Given the description of an element on the screen output the (x, y) to click on. 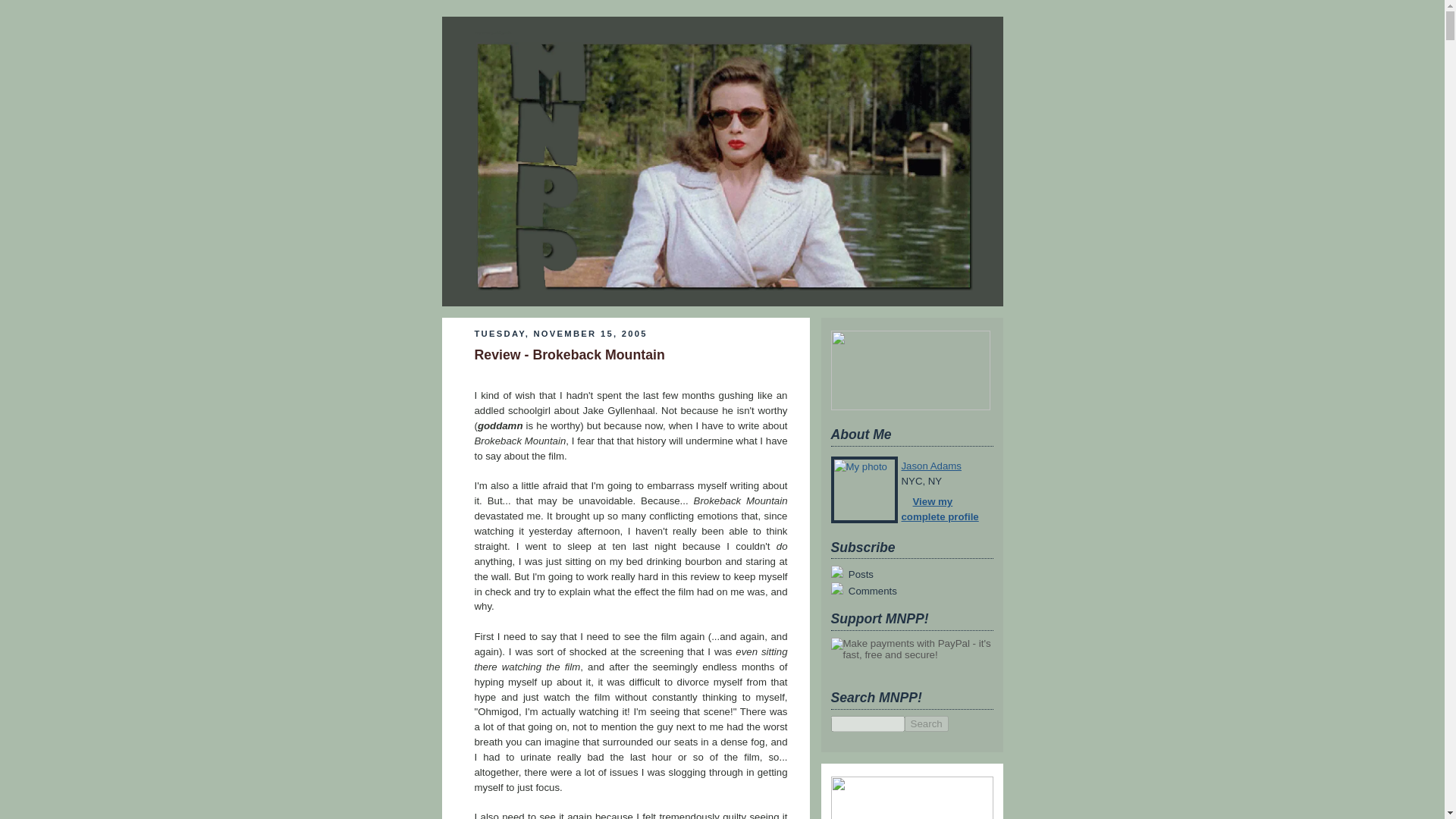
search (925, 723)
Search (925, 723)
search (867, 723)
my new plaid pants (494, 32)
Search (925, 723)
Jason Adams (930, 465)
View my complete profile (939, 509)
Search (925, 723)
